Given the description of an element on the screen output the (x, y) to click on. 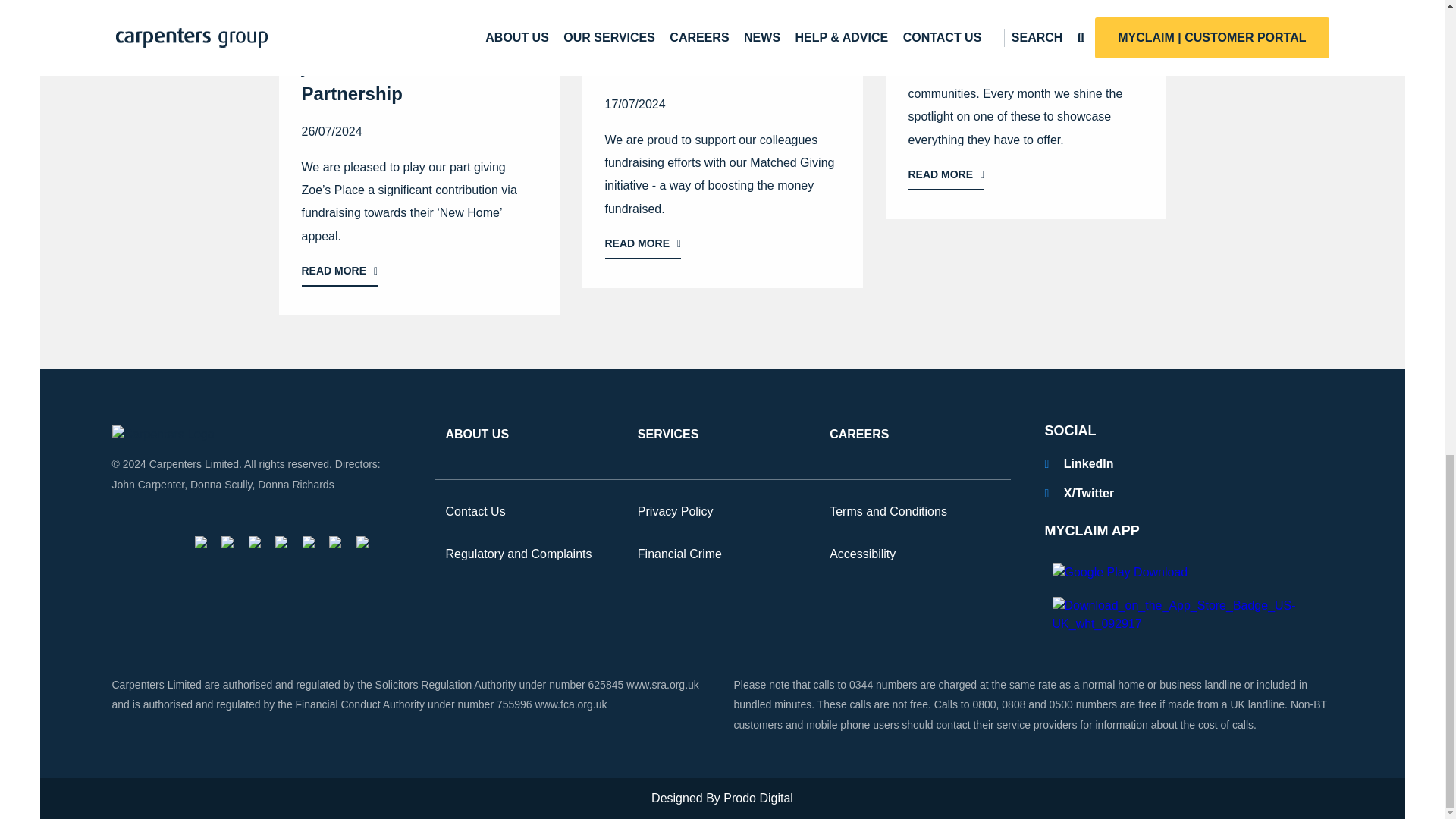
LinkedIn (1079, 463)
Privacy Policy (675, 512)
Regulatory and Complaints (518, 554)
Financial Crime (679, 554)
Matched Giving - Well done Sabrina Emanuel  (722, 145)
Designed By Prodo Digital (721, 797)
ABOUT US (477, 435)
CAREERS (858, 435)
Accessibility (862, 554)
SERVICES (667, 435)
Terms and Conditions (888, 512)
Contact Us (475, 512)
Charity Spotlight: Family Action  (1025, 109)
IFB (200, 540)
